Given the description of an element on the screen output the (x, y) to click on. 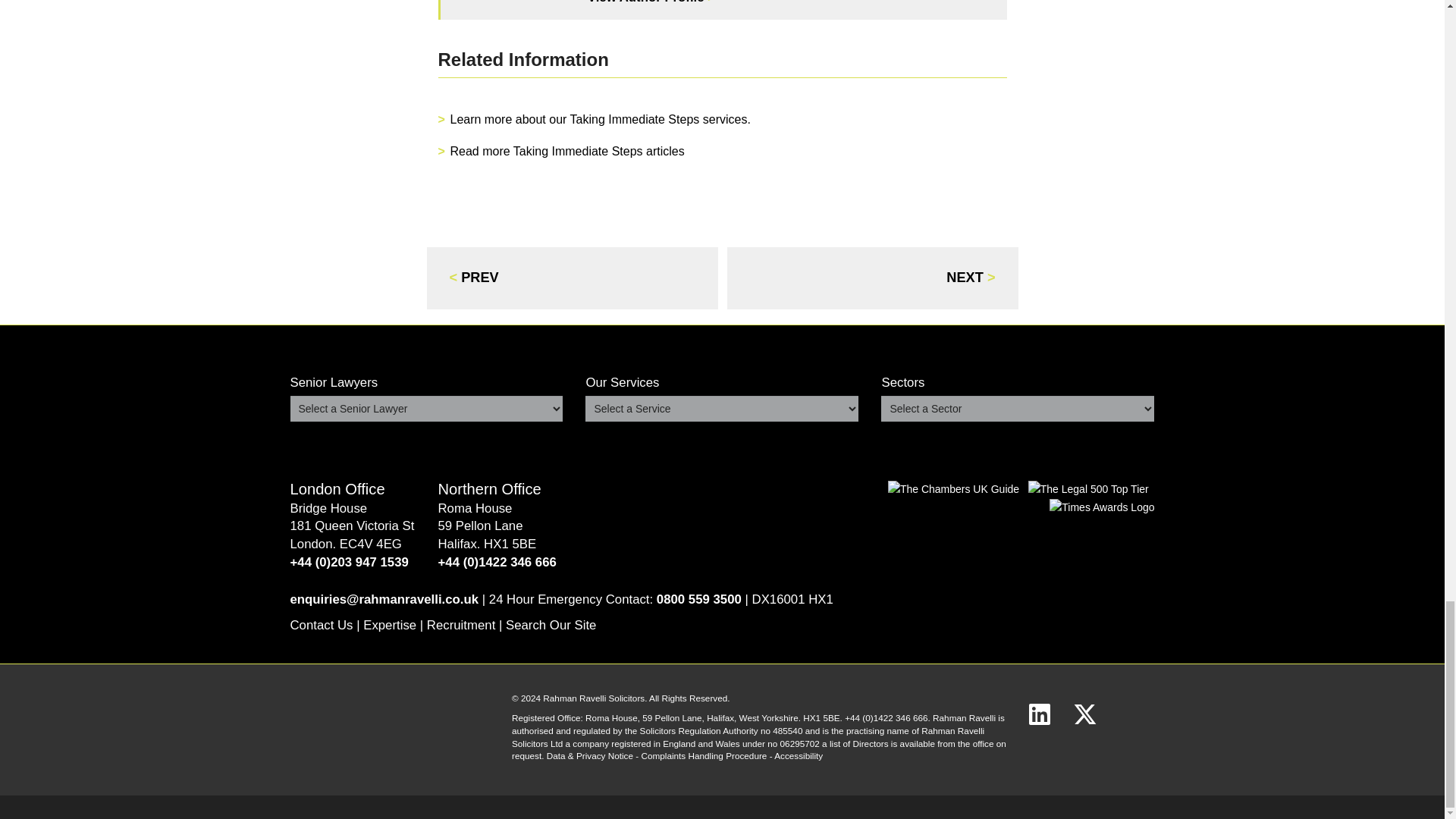
Read Taking Immediate Steps (600, 119)
Azizur Rahman - Senior Partner (651, 2)
Read more Taking Immediate Steps articles (566, 151)
